Given the description of an element on the screen output the (x, y) to click on. 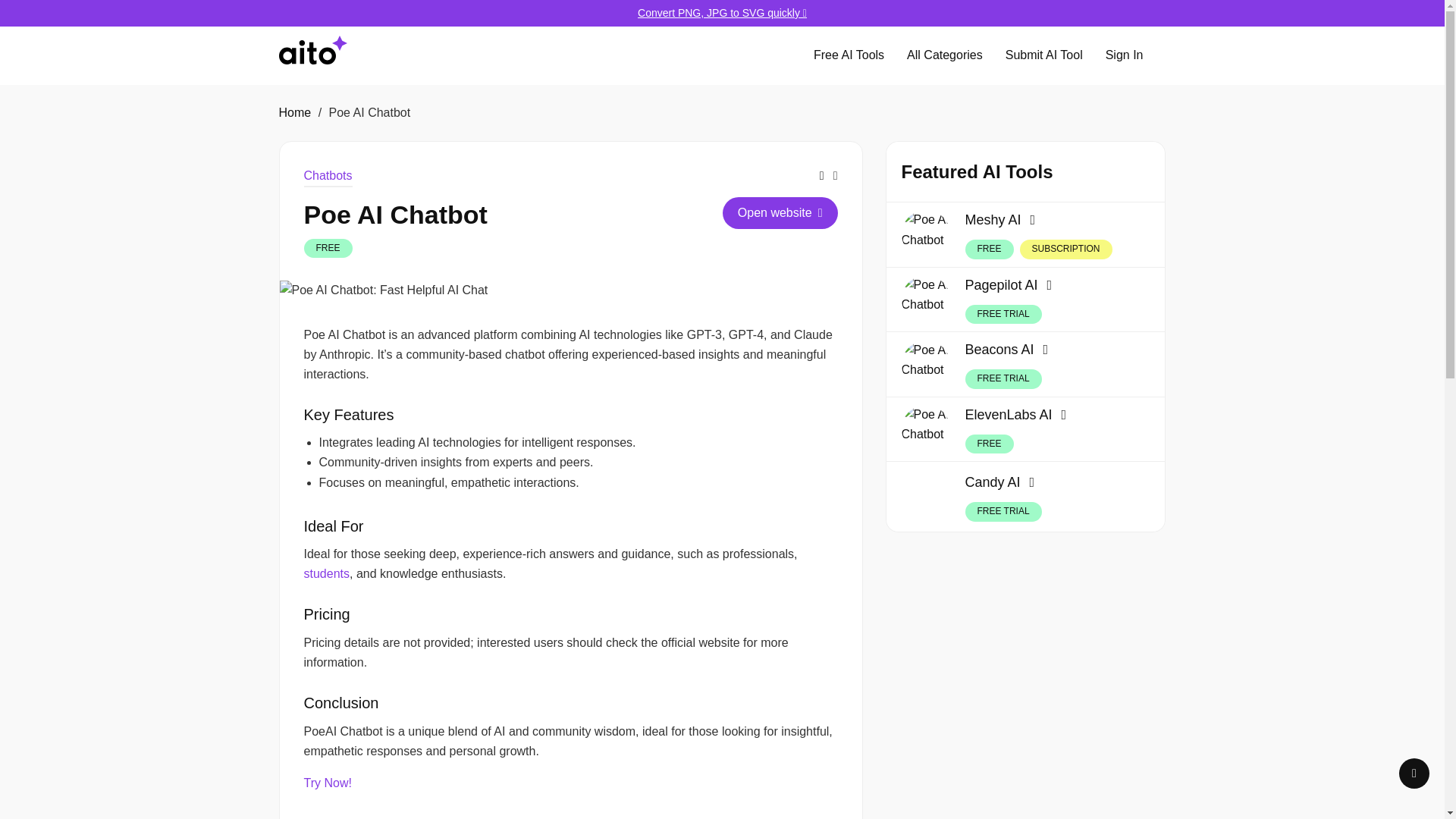
Open website (780, 213)
students (325, 573)
FREE (327, 248)
Free AI Tools (848, 55)
Chatbots (327, 176)
All Categories (944, 55)
Poe AI Chatbot (383, 290)
FREE TRIAL (1002, 379)
Try Now! (326, 782)
Home (295, 112)
